Given the description of an element on the screen output the (x, y) to click on. 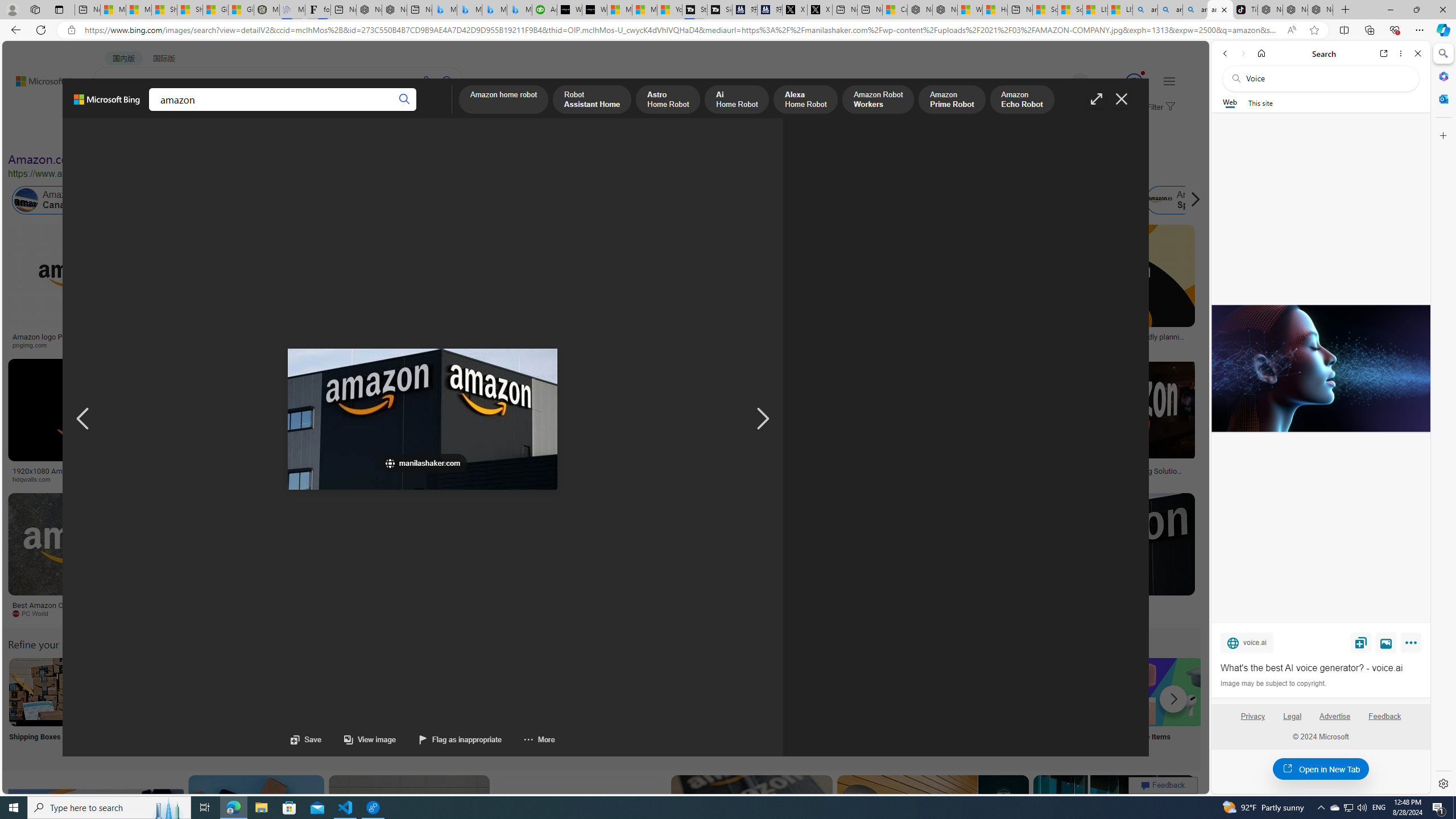
Amazon Sign in My Account Sign My Account (718, 706)
Amazon Prime Shopping Online (944, 691)
Amazon Online Shopping Search Online Shopping Search (118, 706)
Amazon Cloud (320, 200)
Flag as inappropriate (449, 739)
MORE (443, 111)
The Verge (190, 612)
Amazon Canada Online (65, 199)
